Given the description of an element on the screen output the (x, y) to click on. 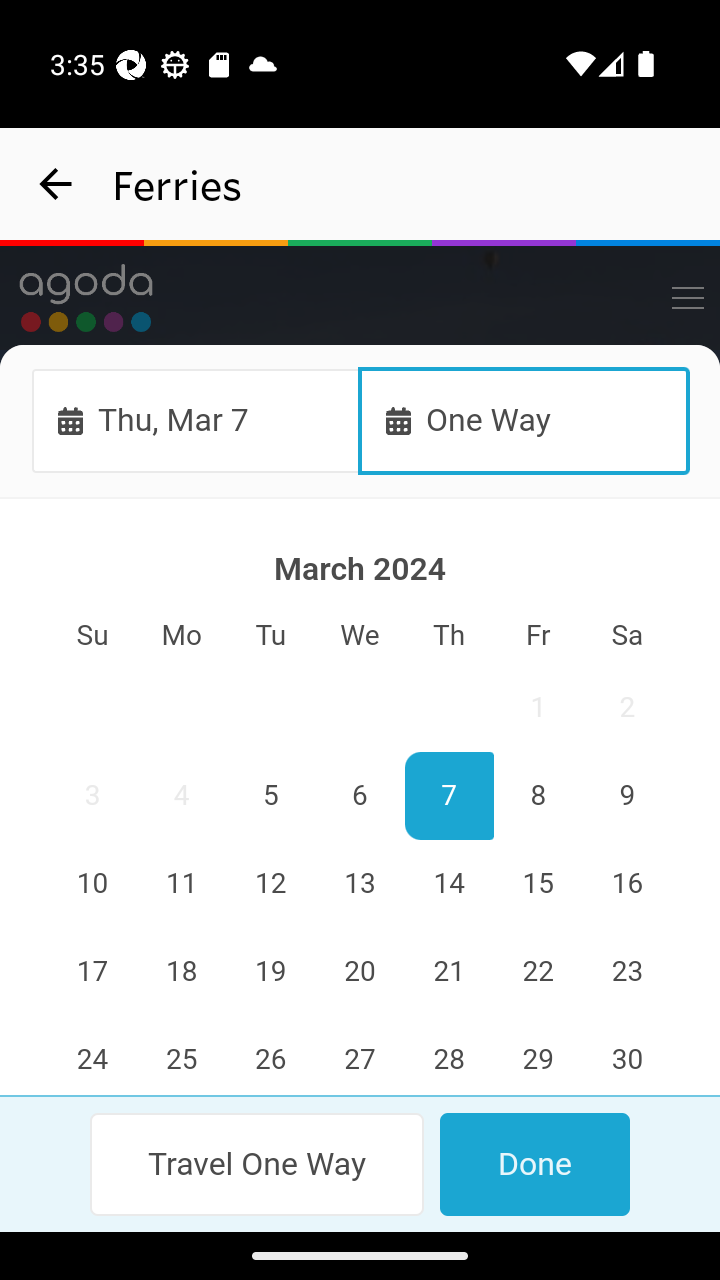
navigation_button (56, 184)
Thu, Mar 7 (195, 420)
One Way (524, 420)
1 (537, 708)
2 (626, 708)
3 (93, 797)
4 (182, 797)
5 (271, 797)
6 (359, 797)
7 (448, 797)
8 (537, 797)
9 (626, 797)
10 (93, 884)
11 (182, 884)
12 (271, 884)
13 (359, 884)
14 (448, 884)
15 (537, 884)
16 (626, 884)
17 (93, 972)
18 (182, 972)
19 (271, 972)
20 (359, 972)
21 (448, 972)
22 (537, 972)
23 (626, 972)
24 (93, 1055)
25 (182, 1055)
26 (271, 1055)
27 (359, 1055)
28 (448, 1055)
29 (537, 1055)
30 (626, 1055)
Travel One Way (258, 1164)
Done (534, 1164)
